Given the description of an element on the screen output the (x, y) to click on. 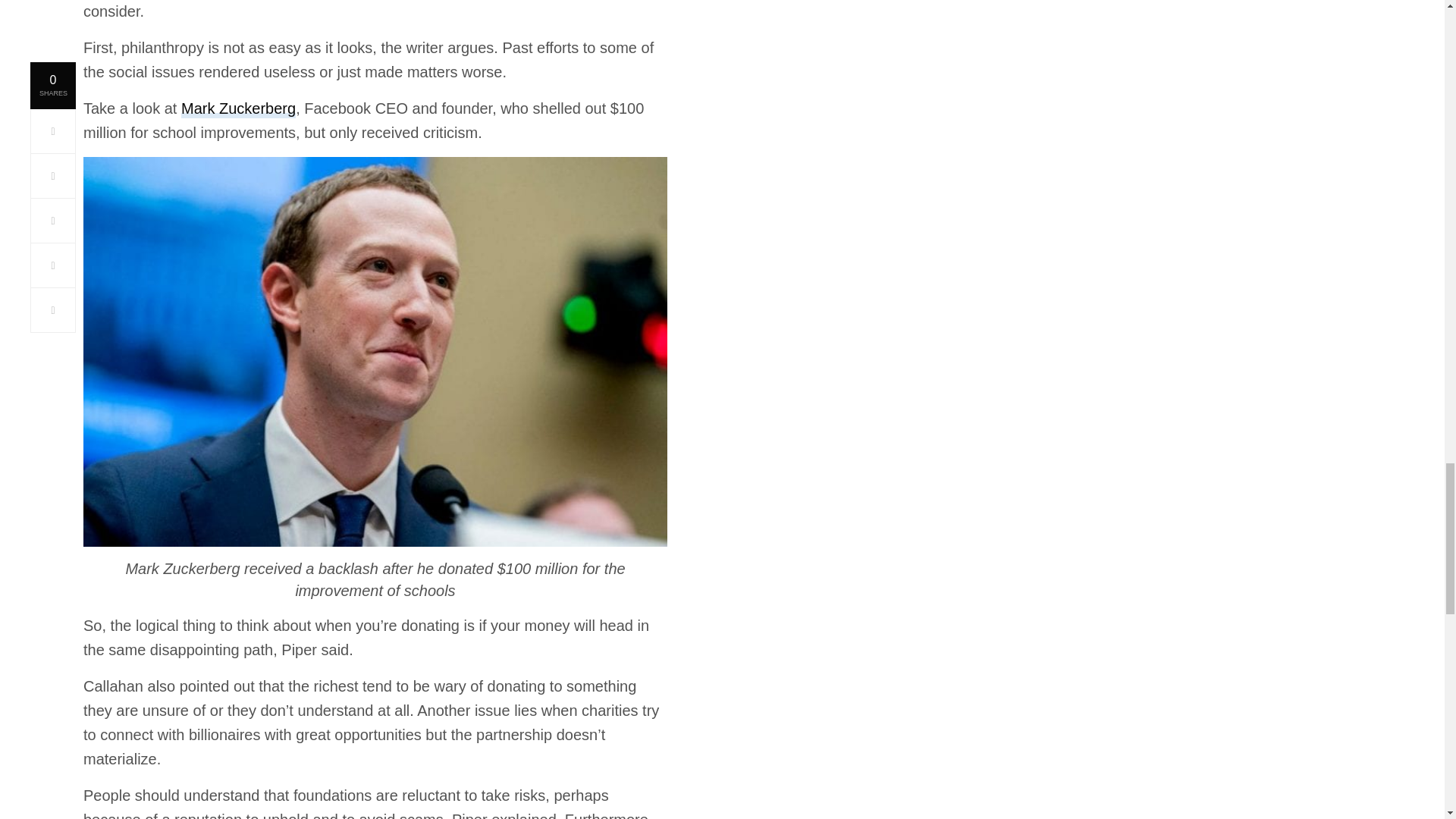
Mark Zuckerberg (237, 108)
